Given the description of an element on the screen output the (x, y) to click on. 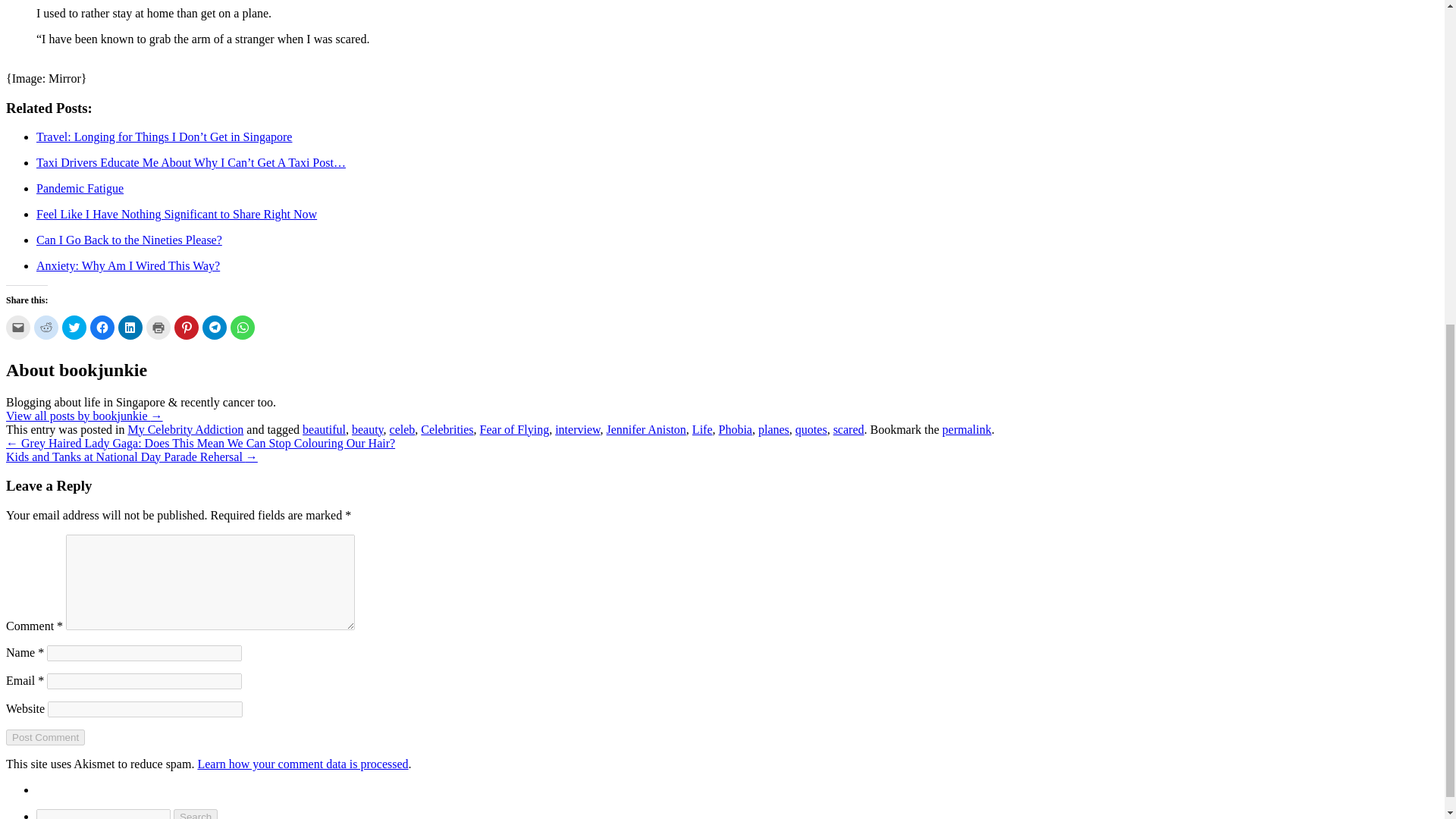
Click to share on Facebook (102, 327)
Click to share on LinkedIn (129, 327)
Click to share on Reddit (45, 327)
beauty (368, 429)
celeb (402, 429)
Click to email a link to a friend (17, 327)
interview (576, 429)
Jennifer Aniston (646, 429)
My Celebrity Addiction (185, 429)
Post Comment (44, 737)
Click to share on Twitter (73, 327)
Fear of Flying (515, 429)
Celebrities (446, 429)
beautiful (324, 429)
Life (703, 429)
